Given the description of an element on the screen output the (x, y) to click on. 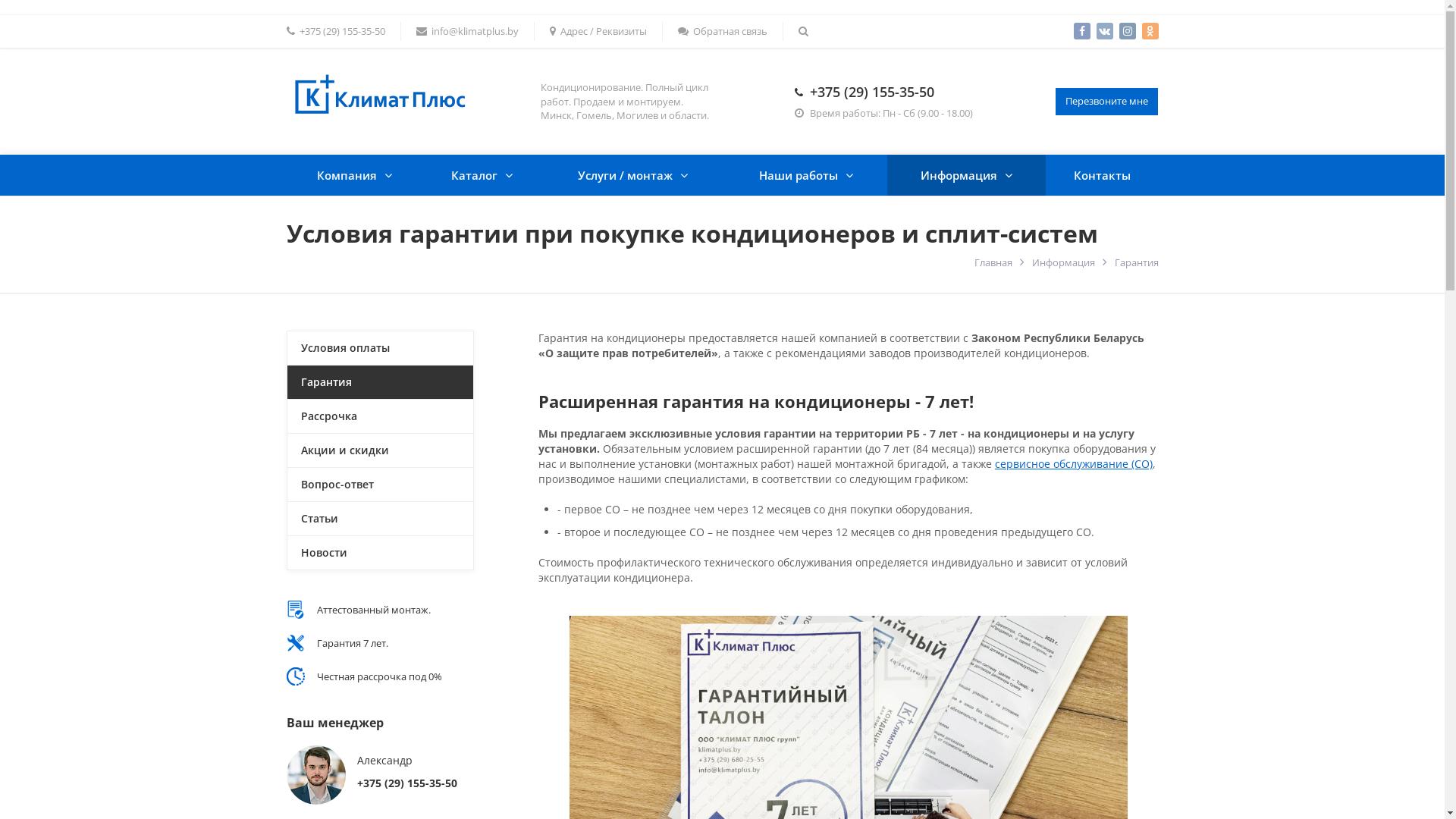
+375 (29) 155-35-50 Element type: text (871, 91)
info@klimatplus.by Element type: text (466, 31)
Facebook Element type: hover (1081, 30)
Instagram Element type: hover (1127, 30)
+375 (29) 155-35-50 Element type: text (335, 31)
logo.png Element type: hover (377, 94)
